Given the description of an element on the screen output the (x, y) to click on. 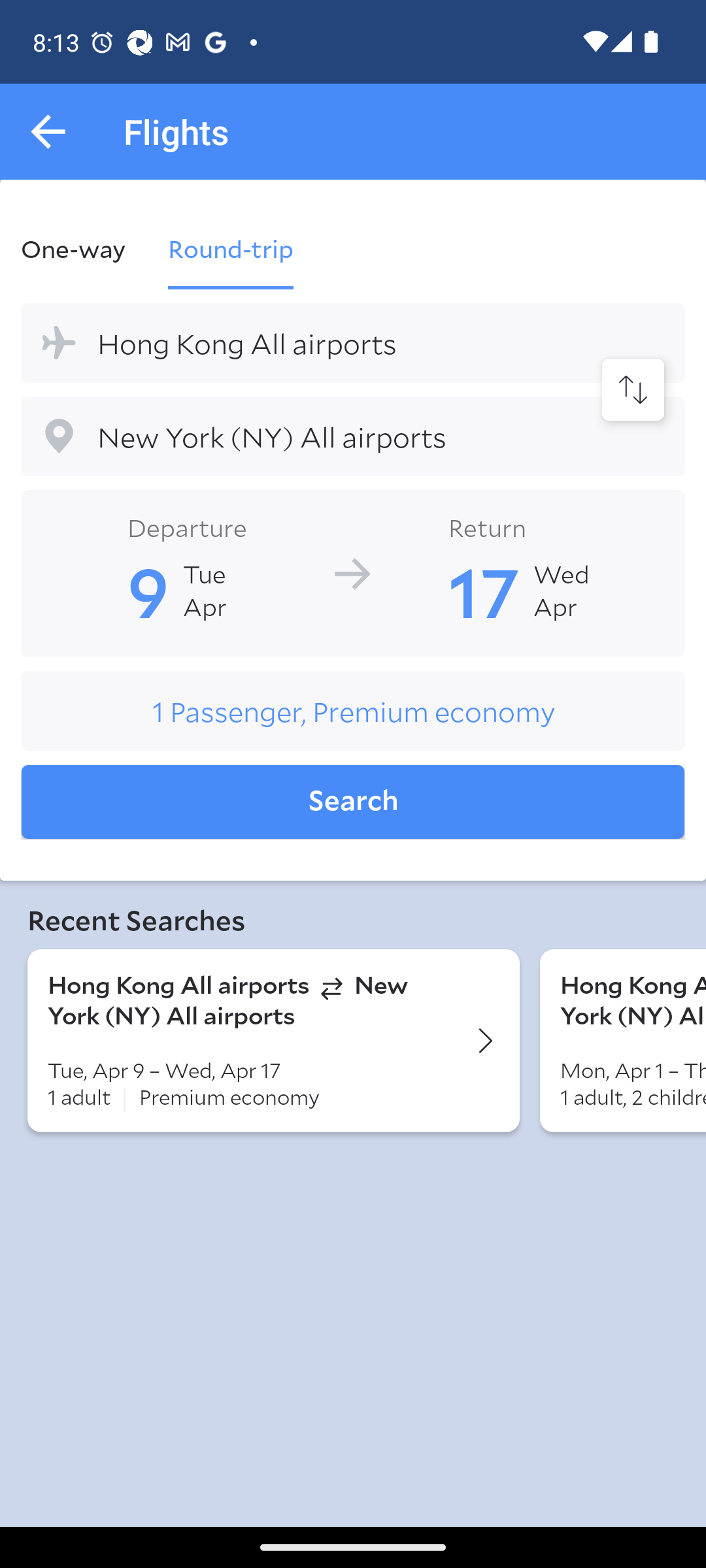
One-way (83, 248)
Hong Kong All airports (352, 342)
New York (NY) All airports (352, 436)
Departure 9 Tue Apr Return 17 Wed Apr (352, 572)
1 Passenger, Premium economy (352, 711)
Search  Search (352, 801)
